Given the description of an element on the screen output the (x, y) to click on. 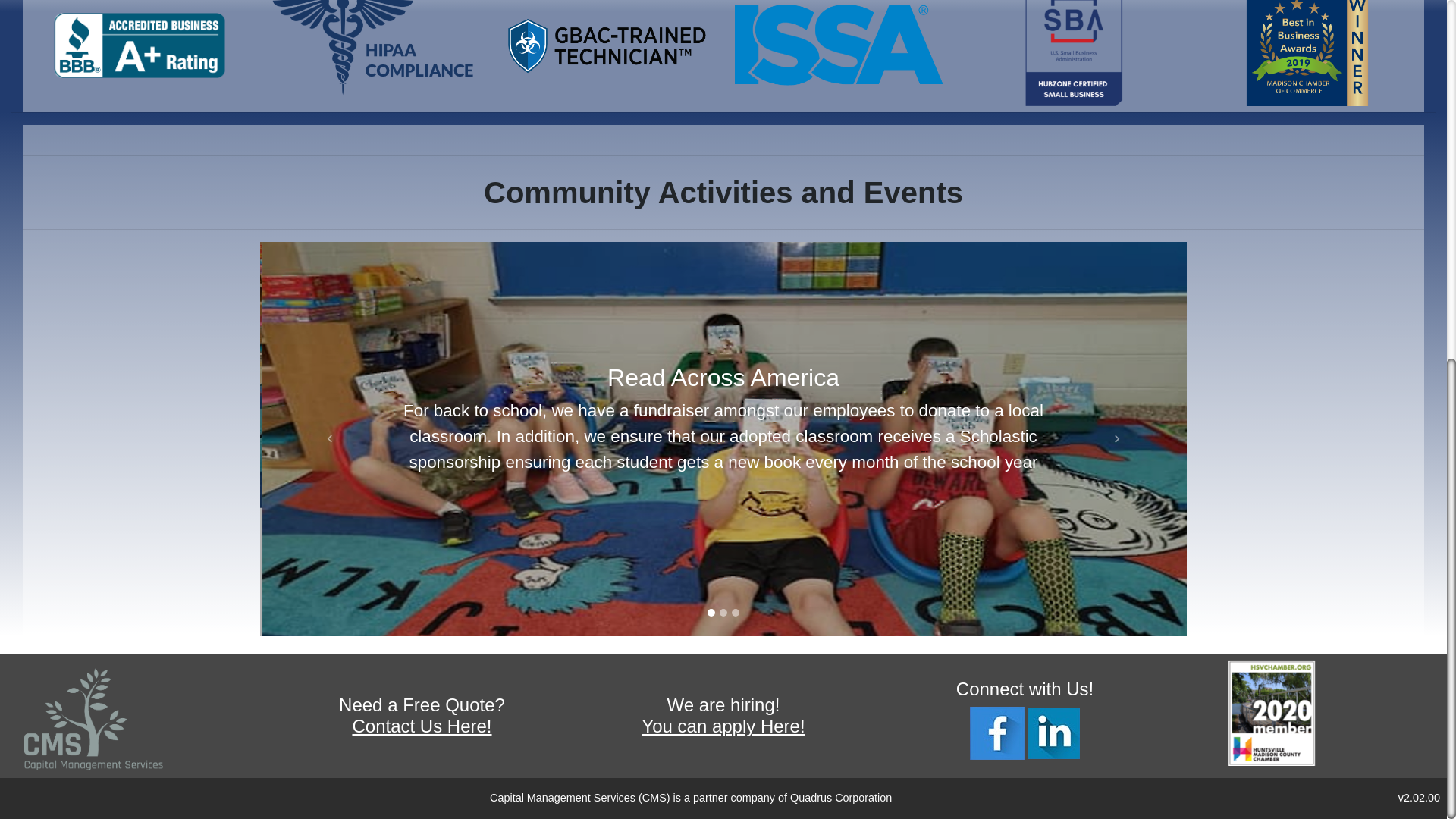
Quadrus Corporation (840, 797)
Previous (329, 438)
Contact Us Here! (422, 725)
Next (1117, 438)
You can apply Here! (723, 725)
